Given the description of an element on the screen output the (x, y) to click on. 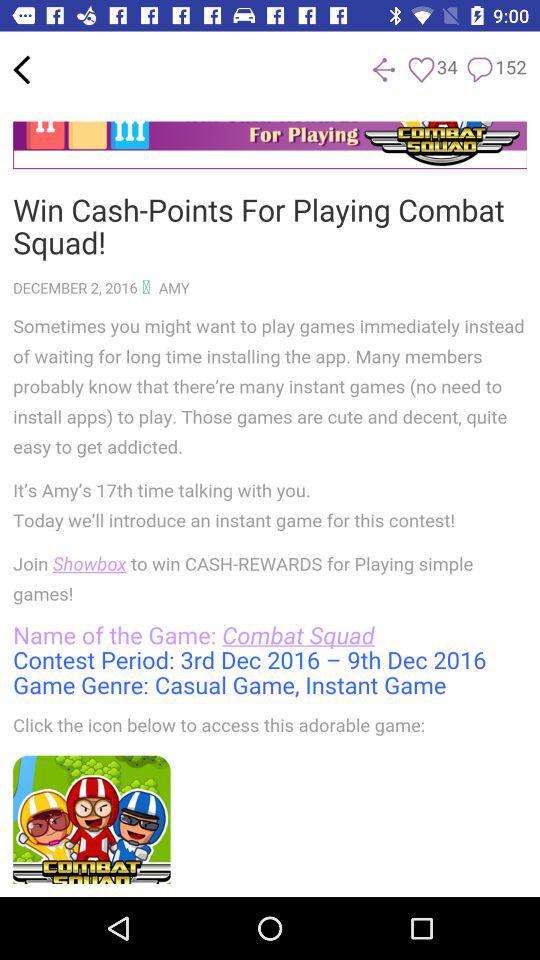
go to previous (21, 69)
